Given the description of an element on the screen output the (x, y) to click on. 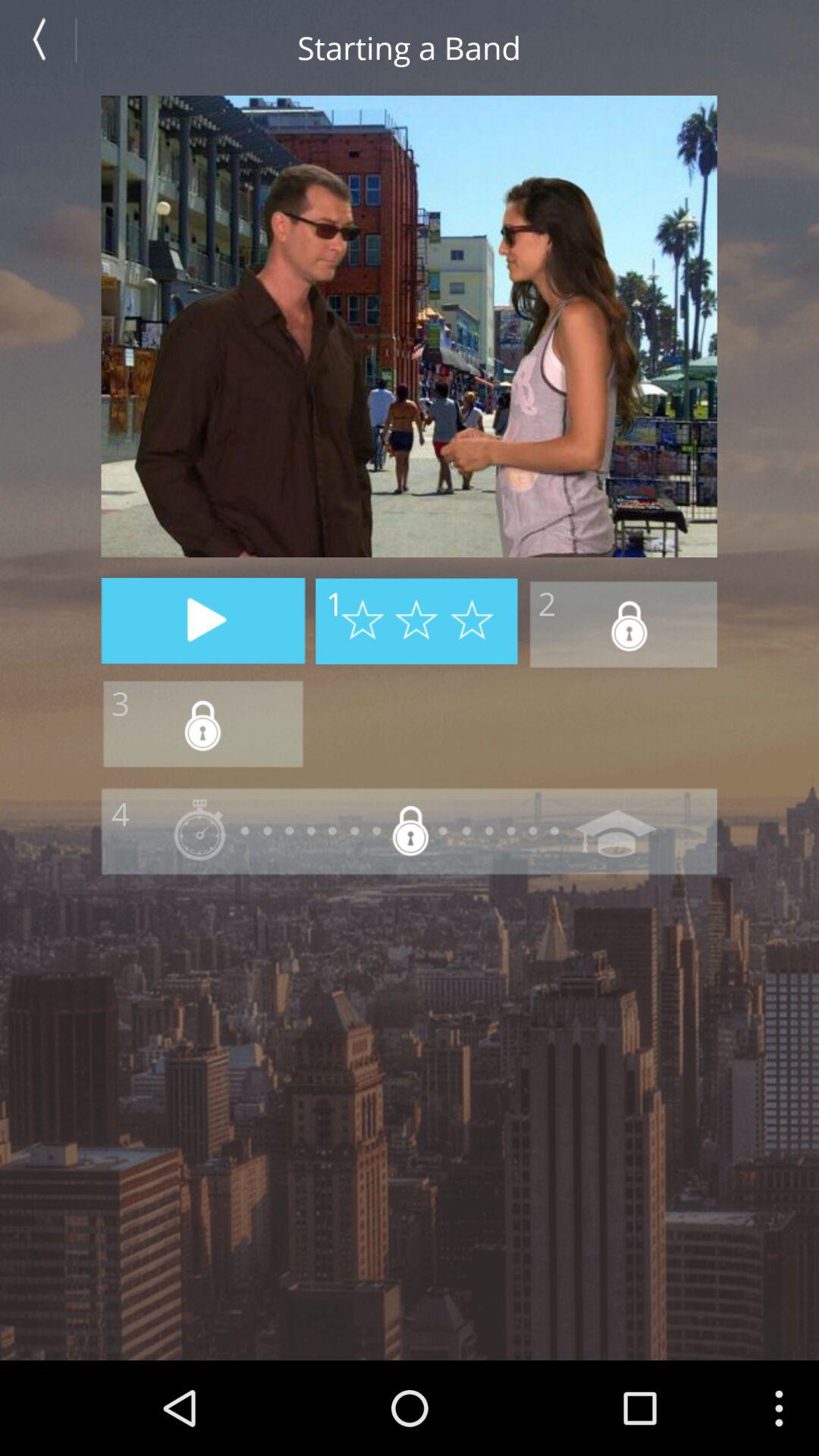
play button (203, 620)
